Given the description of an element on the screen output the (x, y) to click on. 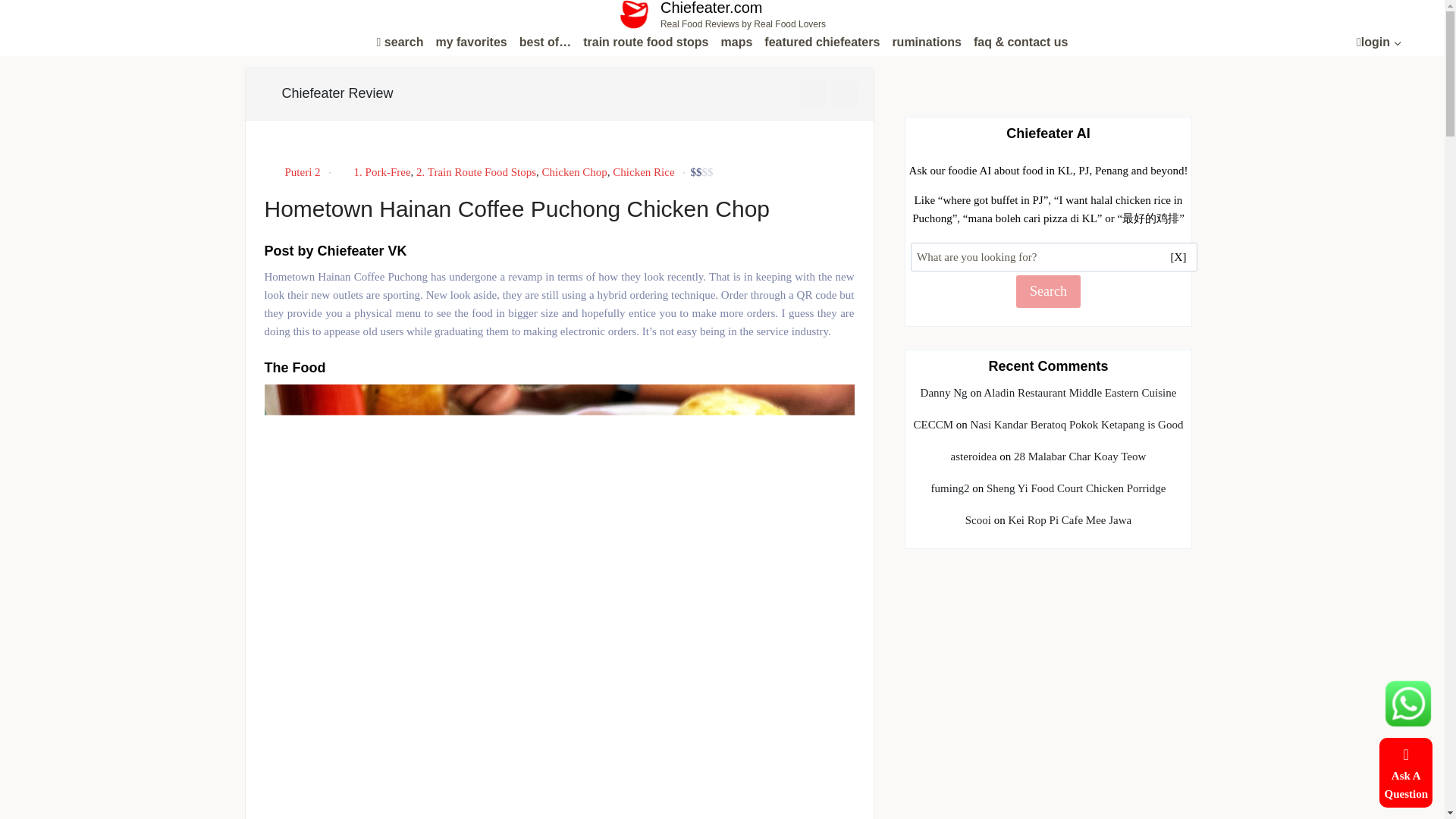
my favorites (470, 42)
featured chiefeaters (821, 42)
maps (736, 42)
Puteri 2 (302, 172)
Chicken Rice (643, 172)
2. Train Route Food Stops (475, 172)
ruminations (926, 42)
1. Pork-Free (381, 172)
train route food stops (721, 14)
